Given the description of an element on the screen output the (x, y) to click on. 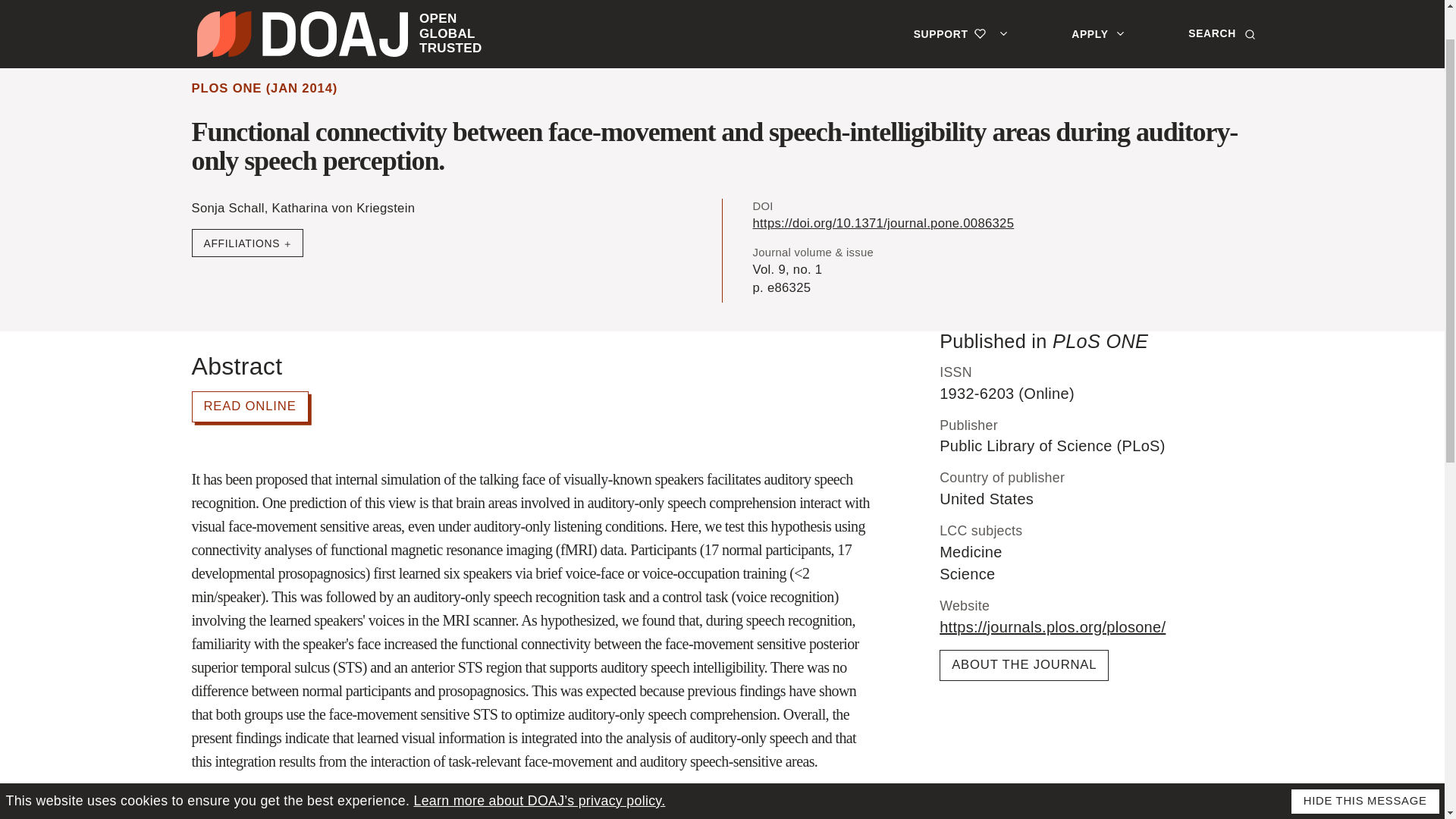
DOCUMENTATION (379, 41)
SEARCH (228, 41)
APPLY (1101, 6)
SUPPORT (964, 6)
ABOUT (525, 41)
HIDE THIS MESSAGE (353, 6)
